Given the description of an element on the screen output the (x, y) to click on. 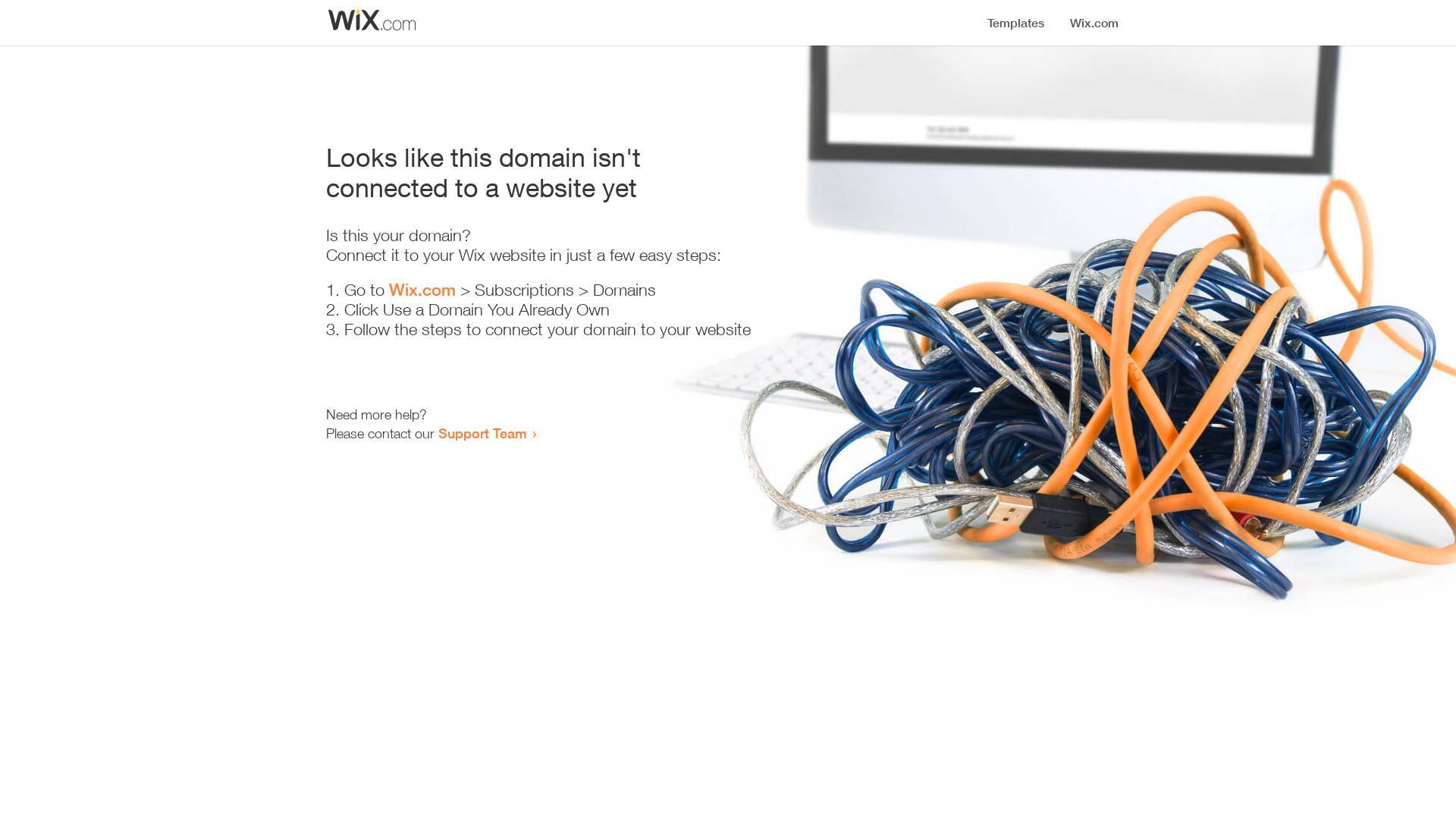
Support Team Element type: text (482, 432)
Wix.com Element type: text (422, 289)
